Given the description of an element on the screen output the (x, y) to click on. 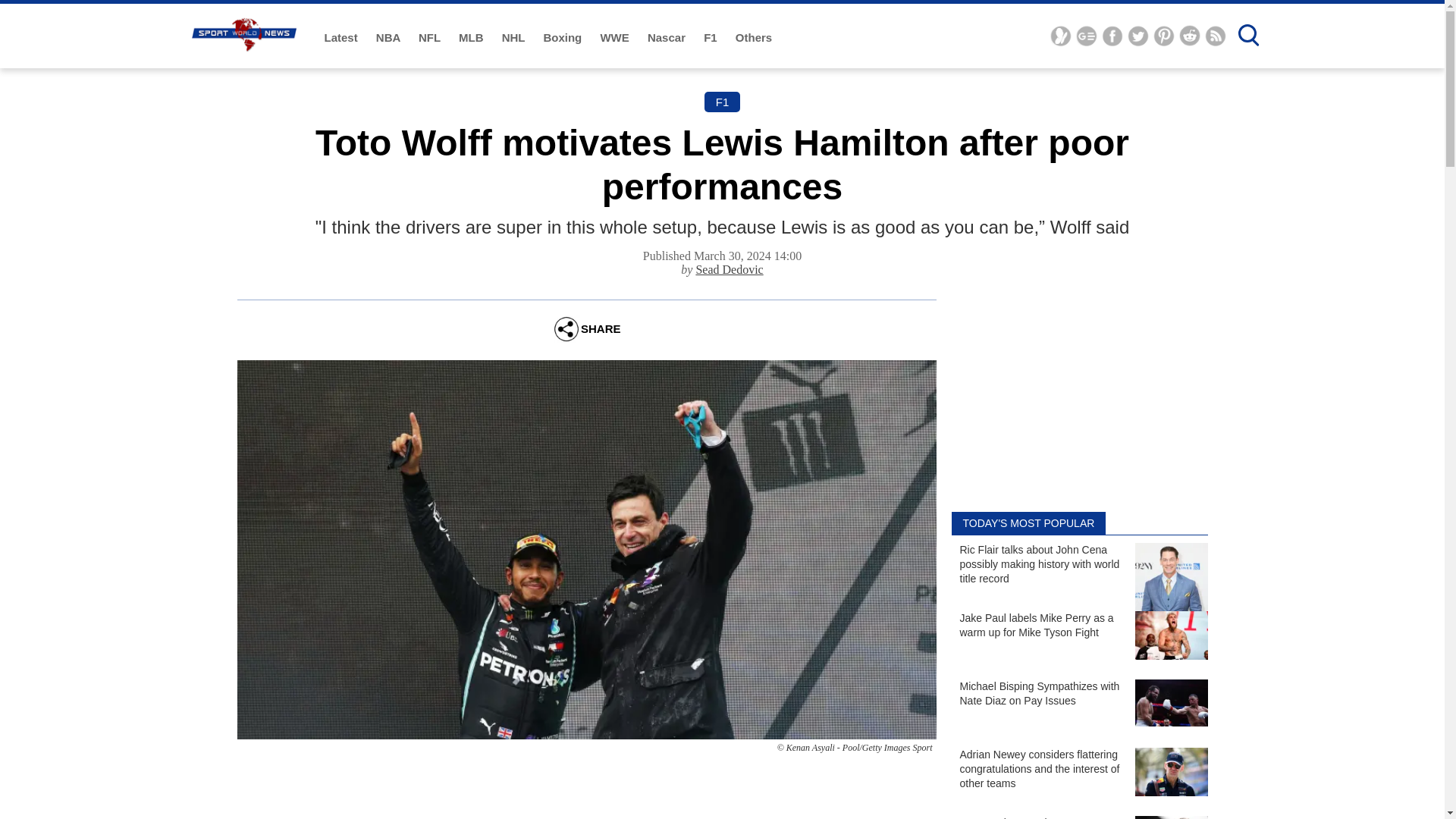
Others (753, 37)
WWE (615, 37)
Latest (342, 37)
MLB (472, 37)
NHL (515, 37)
Nascar (667, 37)
F1 (711, 37)
NFL (431, 37)
NBA (389, 37)
Boxing (564, 37)
